Given the description of an element on the screen output the (x, y) to click on. 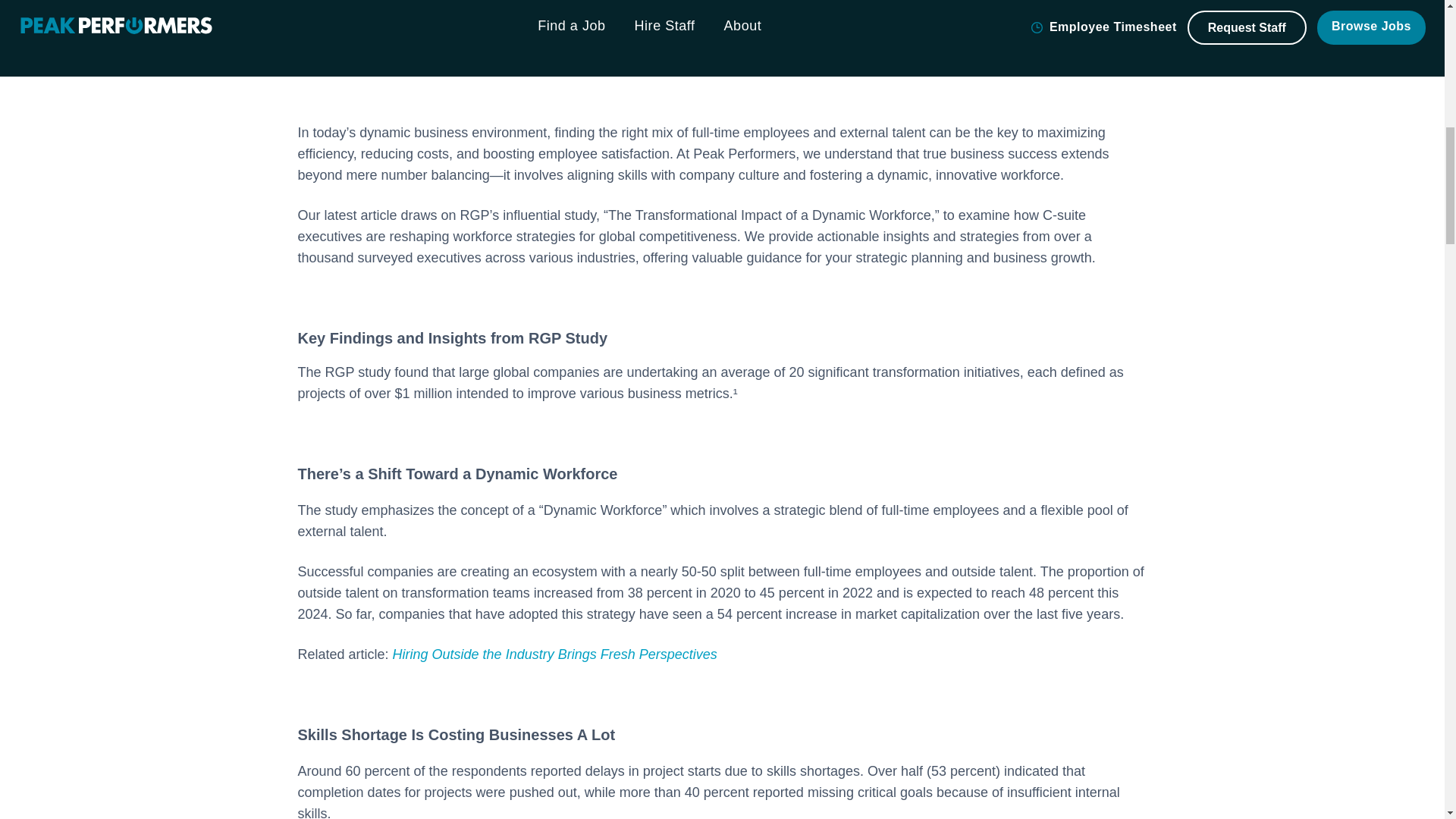
Hiring Outside the Industry Brings Fresh Perspectives (555, 654)
